Given the description of an element on the screen output the (x, y) to click on. 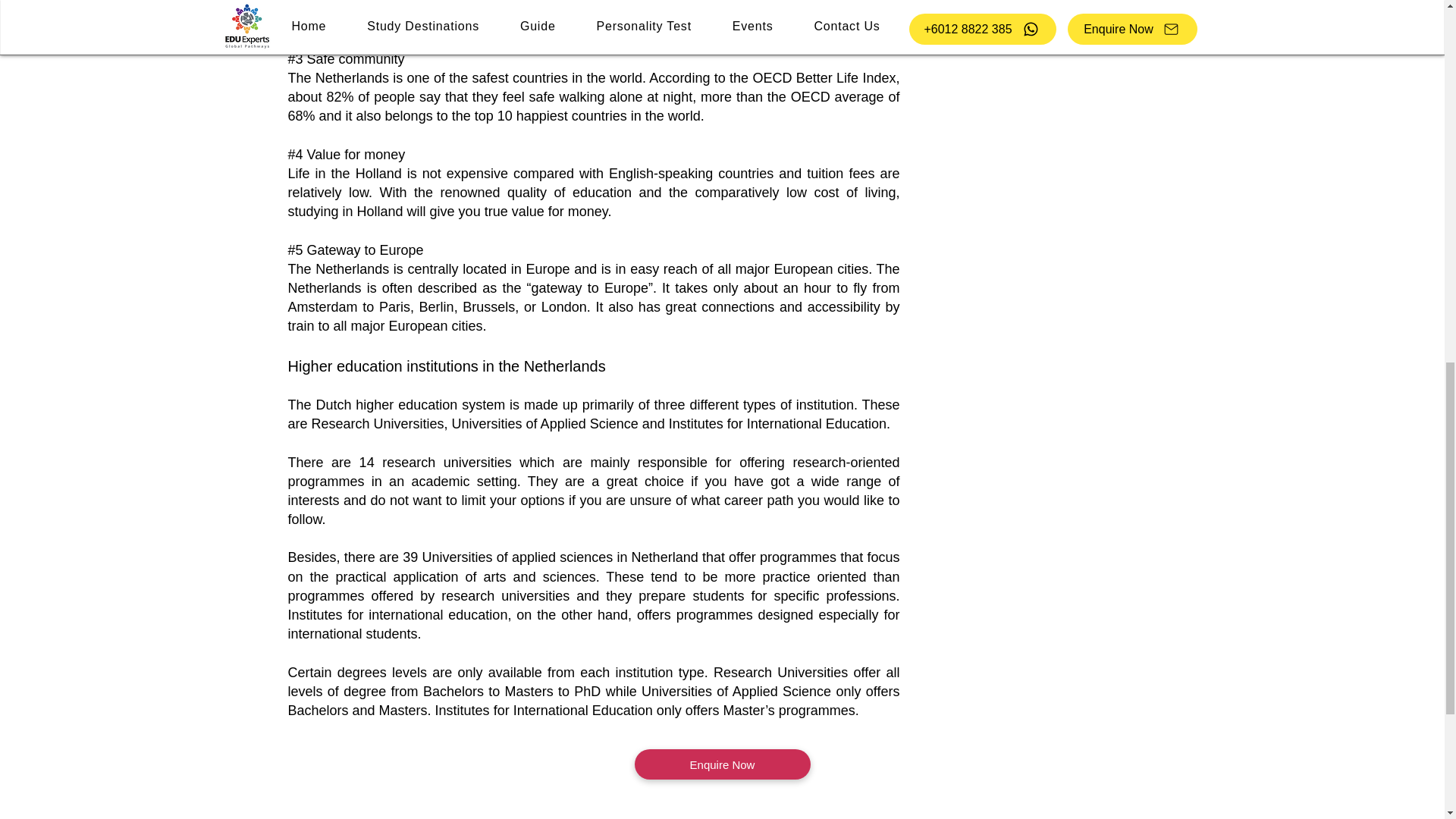
Institutes for international education (398, 614)
Universities of applied sciences (517, 557)
research universities (446, 462)
Enquire Now (721, 764)
